Given the description of an element on the screen output the (x, y) to click on. 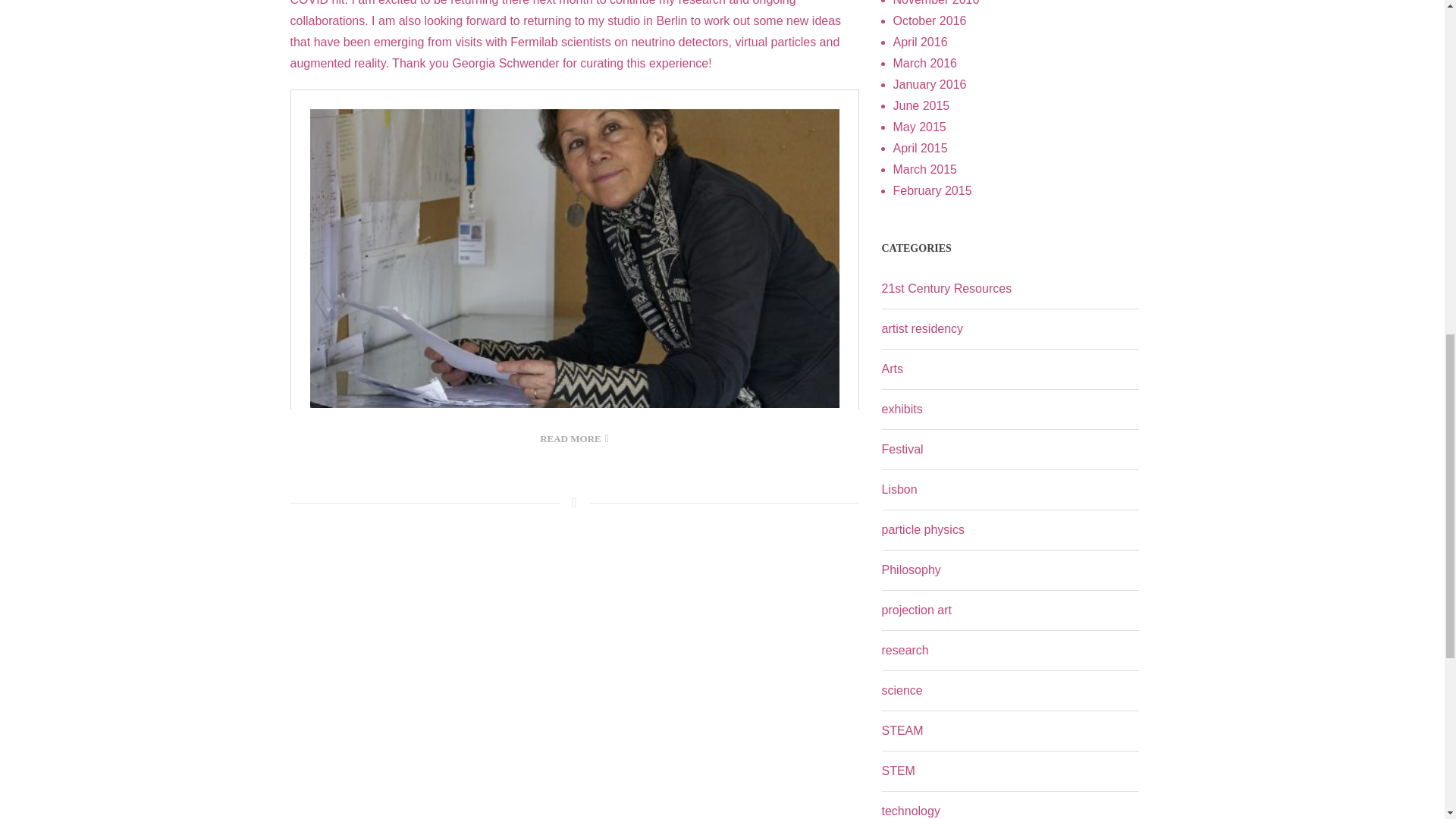
READ MORE (574, 438)
